Given the description of an element on the screen output the (x, y) to click on. 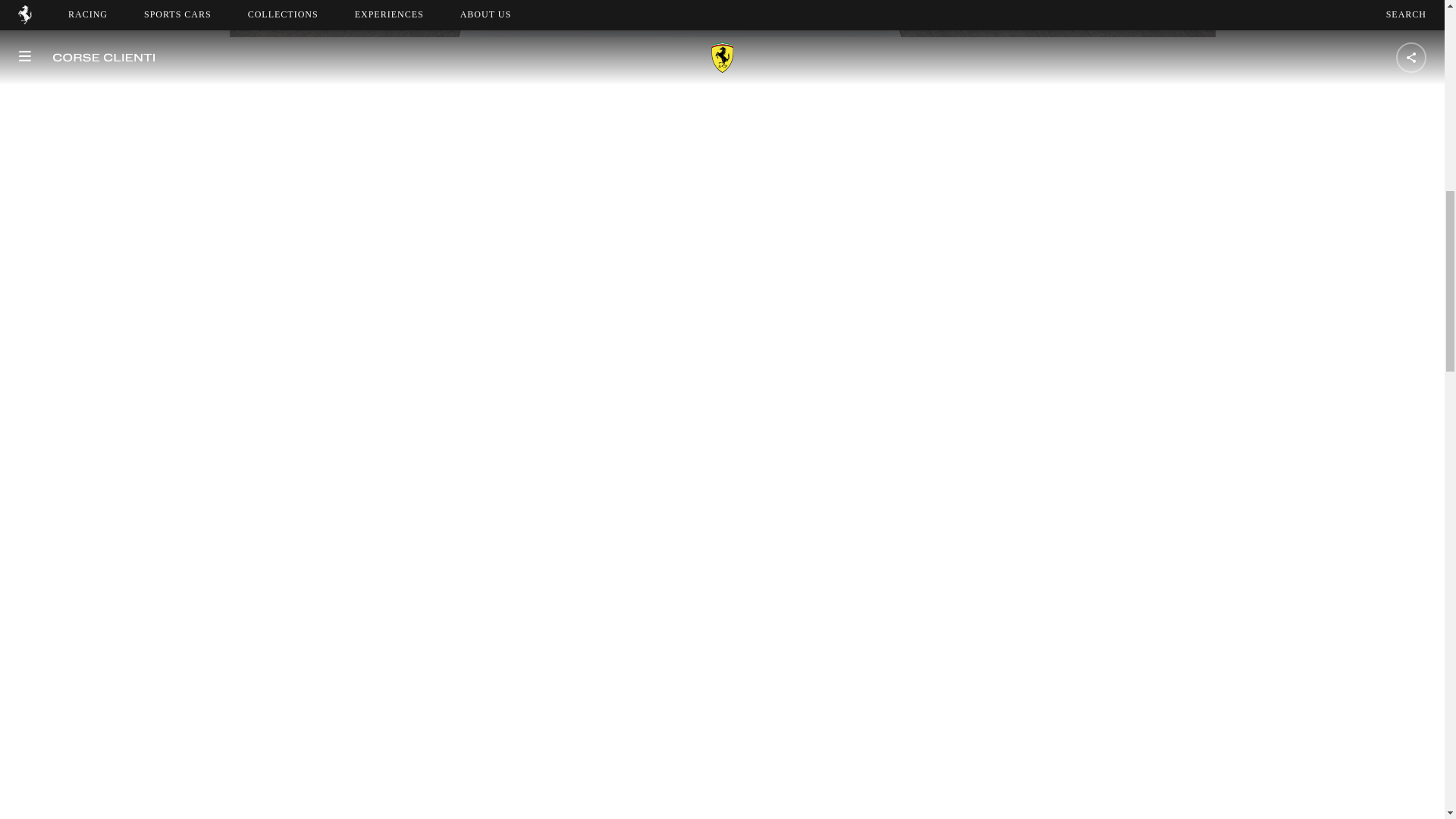
Finali Mondiali 2021: show and thrills at Mugello (721, 18)
